Given the description of an element on the screen output the (x, y) to click on. 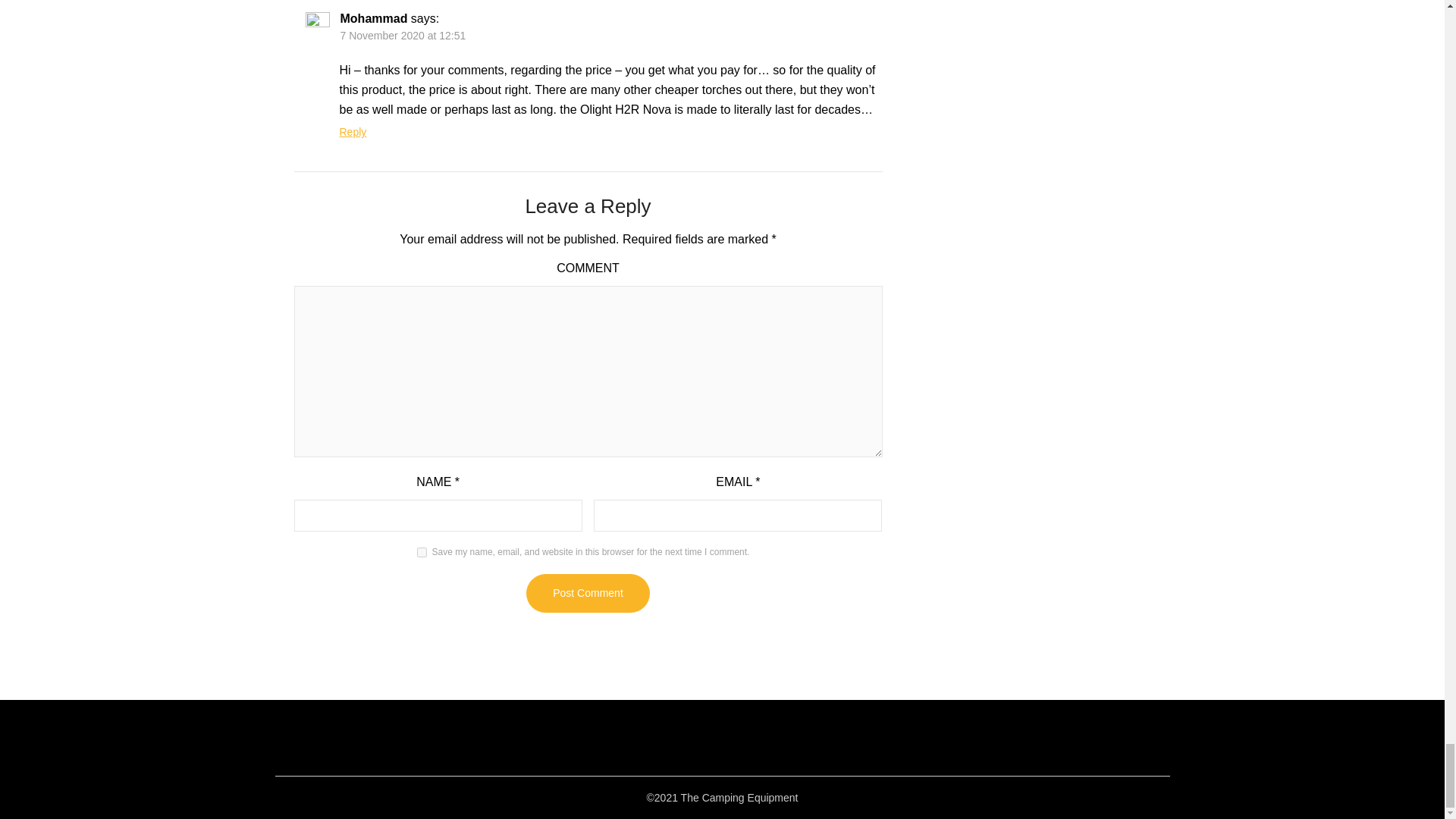
Post Comment (587, 593)
yes (421, 552)
